Given the description of an element on the screen output the (x, y) to click on. 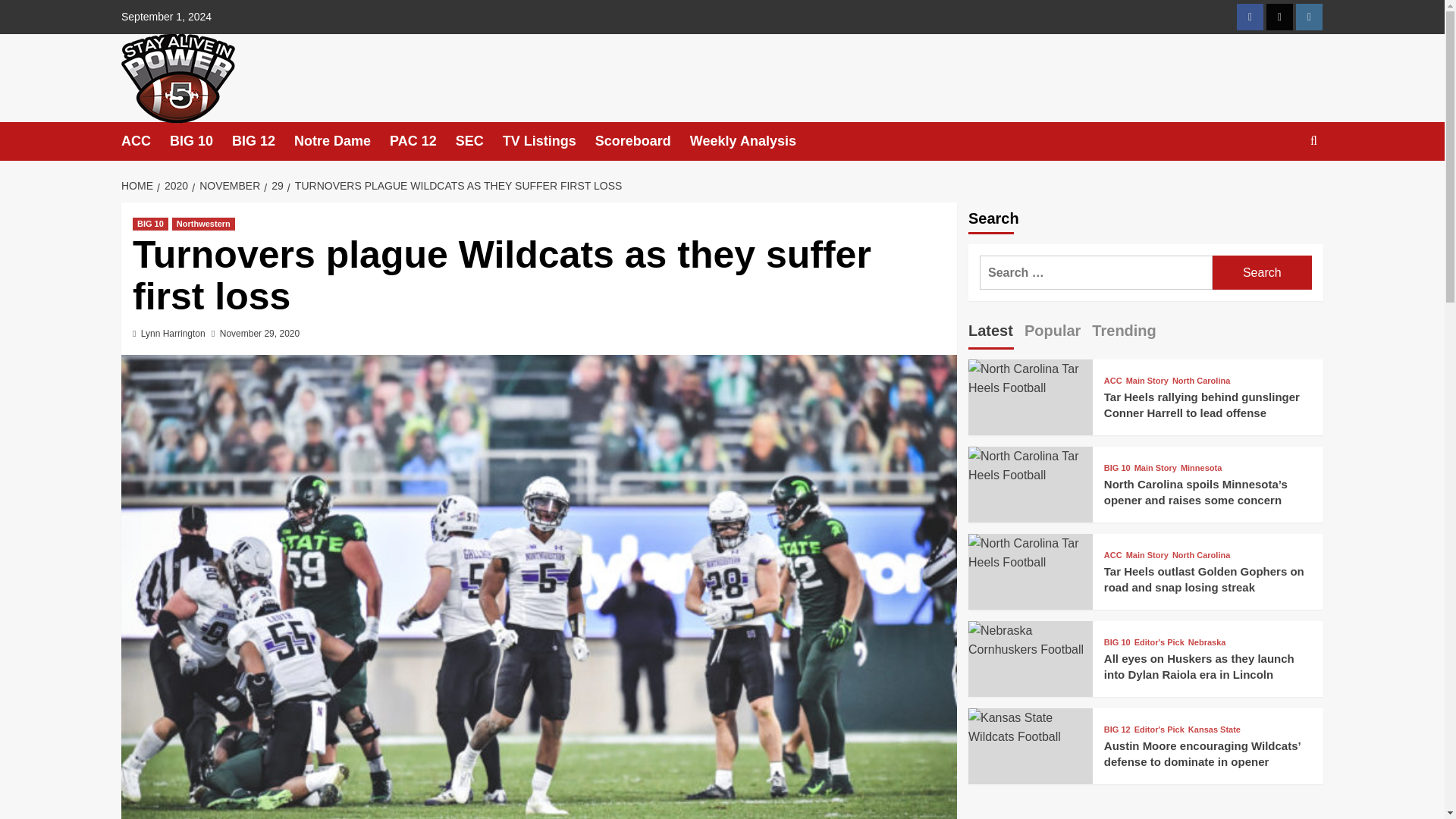
Facebook (1249, 17)
ACC (145, 141)
Search (1261, 272)
BIG 10 (200, 141)
Twitter (1279, 17)
Instagram (1308, 17)
Search (1261, 272)
